Given the description of an element on the screen output the (x, y) to click on. 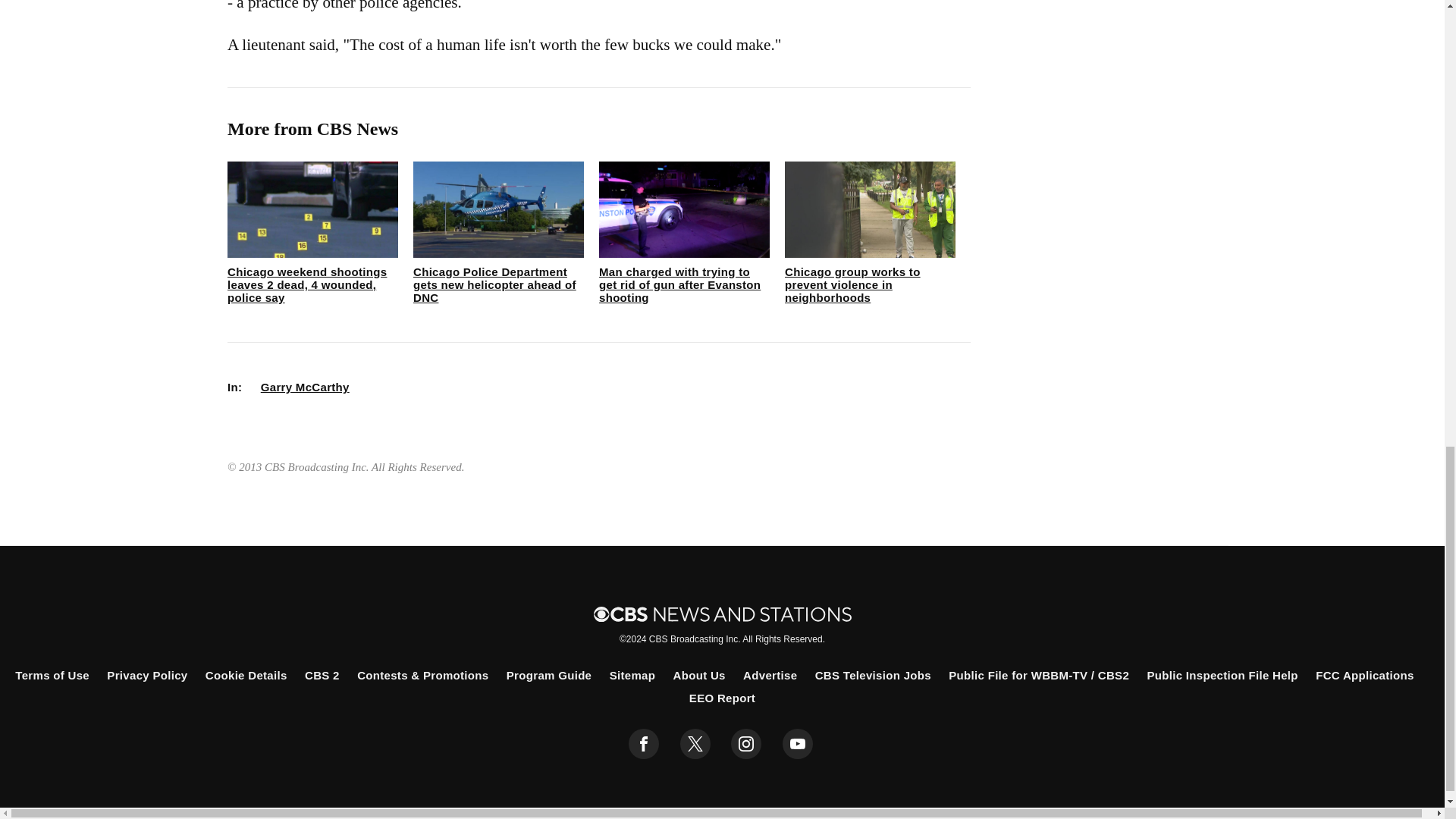
twitter (694, 743)
facebook (643, 743)
youtube (797, 743)
instagram (745, 743)
